Given the description of an element on the screen output the (x, y) to click on. 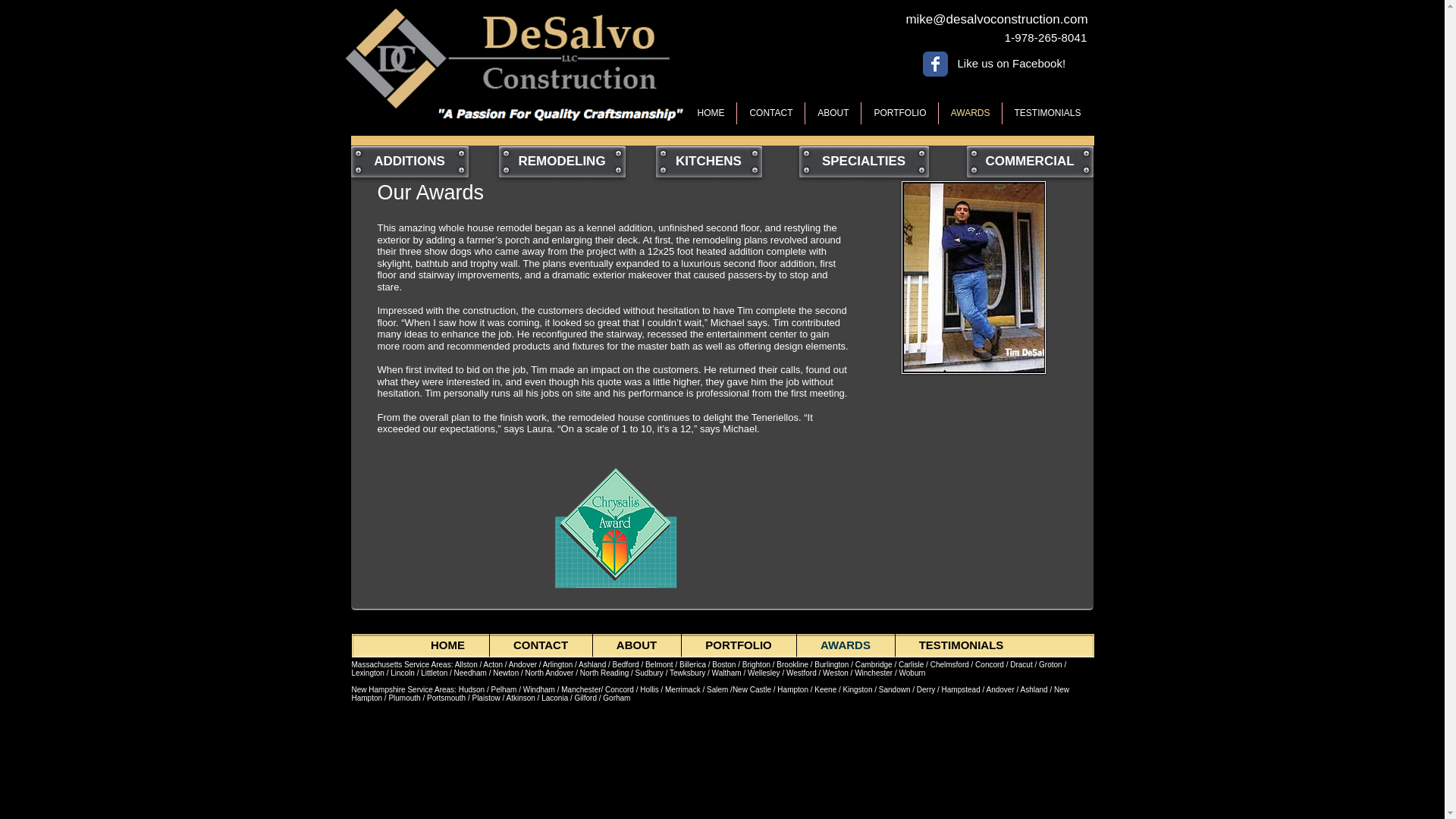
ABOUT (832, 113)
CONTACT (540, 644)
KITCHENS (708, 161)
TESTIMONIALS (960, 644)
PORTFOLIO (737, 644)
PORTFOLIO (899, 113)
TESTIMONIALS (1048, 113)
ADDITIONS (408, 161)
CONTACT (770, 113)
ABOUT (636, 644)
COMMERCIAL (1029, 161)
SPECIALTIES (863, 161)
HOME (709, 113)
AWARDS (844, 644)
REMODELING (562, 161)
